Given the description of an element on the screen output the (x, y) to click on. 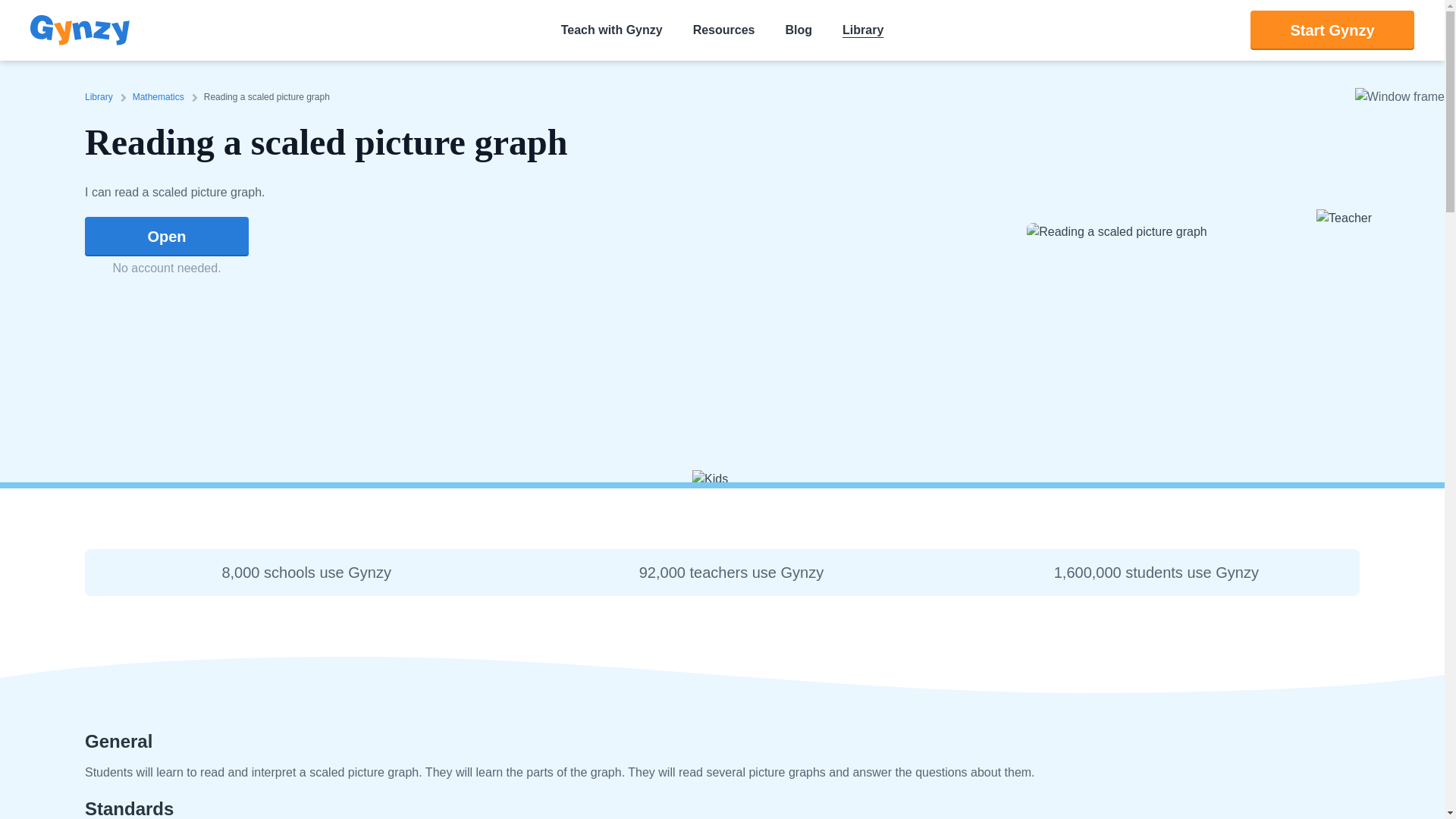
Start Gynzy (1331, 29)
Open (166, 236)
Resources (724, 30)
Mathematics (161, 96)
Teach with Gynzy (612, 30)
Library (101, 96)
Resources (724, 30)
Click here to go Home (79, 30)
Library (863, 30)
Blog (798, 30)
